Given the description of an element on the screen output the (x, y) to click on. 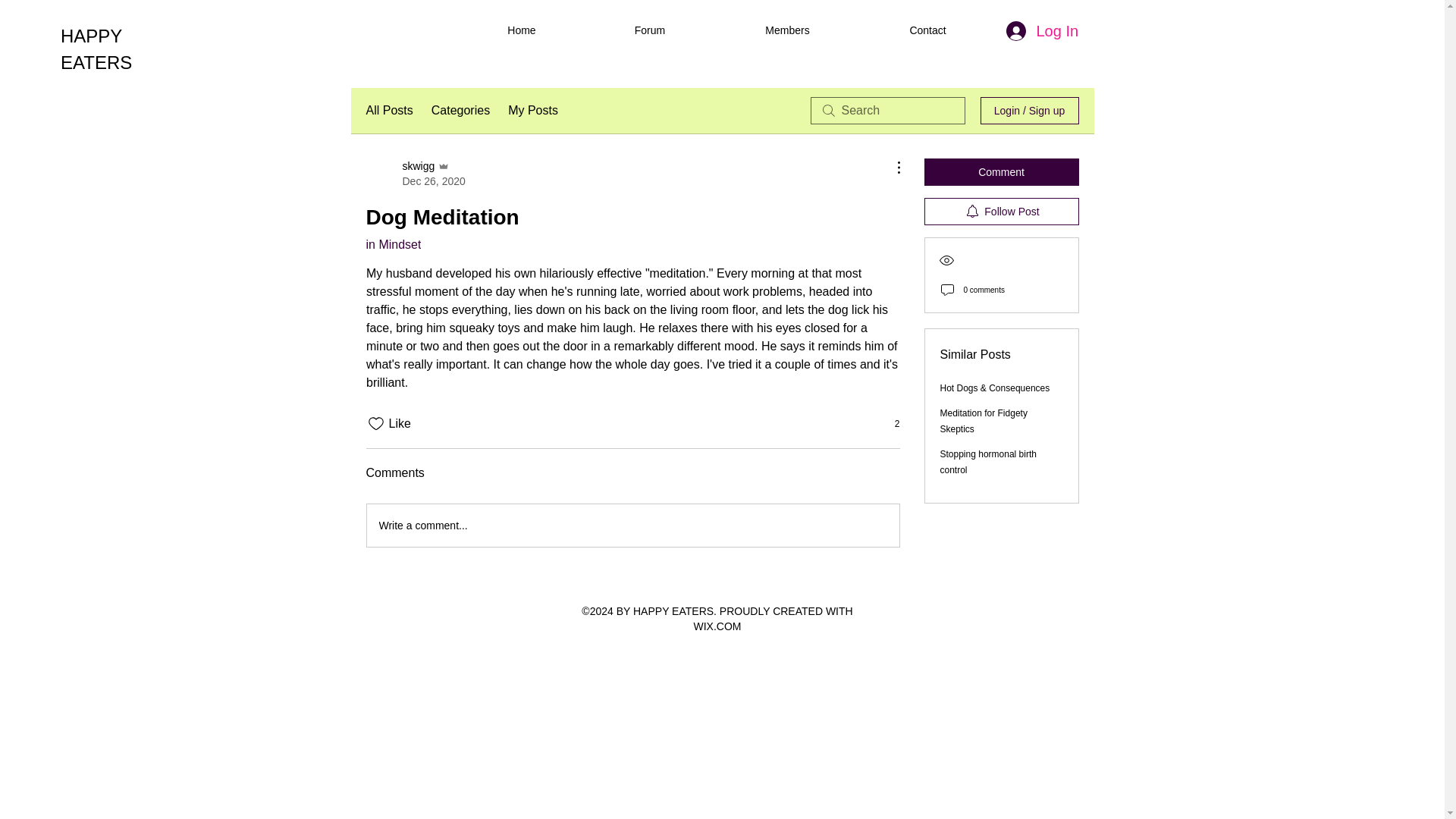
Comment (1000, 171)
Follow Post (1000, 211)
Forum (649, 30)
All Posts (388, 110)
2 (888, 423)
Contact (927, 30)
Home (521, 30)
Members (787, 30)
Stopping hormonal birth control (414, 173)
